Given the description of an element on the screen output the (x, y) to click on. 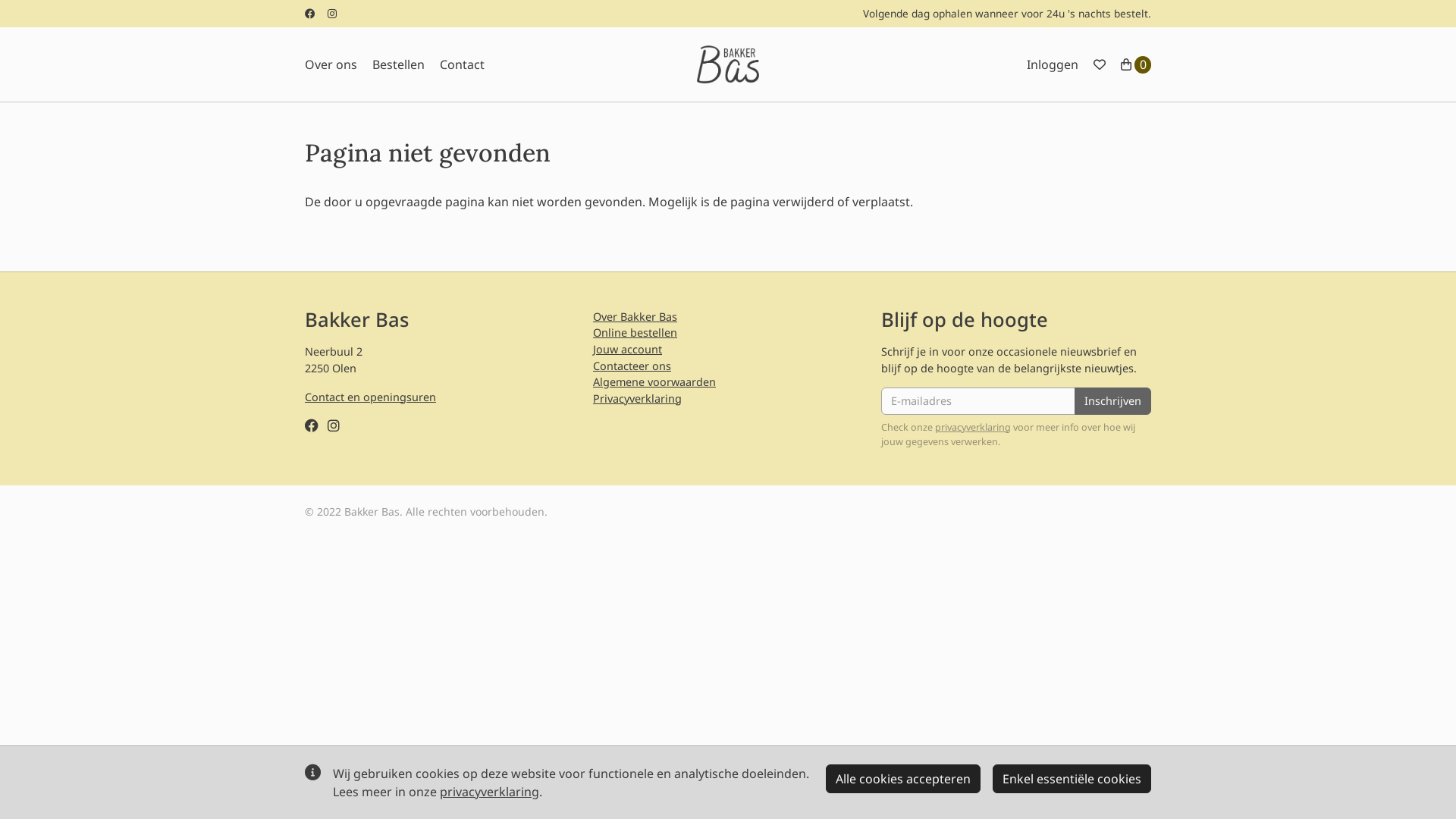
Bakker Bas op Facebook Element type: hover (309, 13)
Over Bakker Bas Element type: text (635, 316)
Bakker Bas op Instagram Element type: hover (333, 424)
Algemene voorwaarden Element type: text (654, 381)
Over ons Element type: text (330, 64)
0 Element type: text (1135, 64)
Bestellen Element type: text (398, 64)
Contact en openingsuren Element type: text (370, 396)
Favorieten Element type: hover (1099, 64)
Alle cookies accepteren Element type: text (902, 778)
privacyverklaring Element type: text (972, 426)
Privacyverklaring Element type: text (637, 398)
privacyverklaring Element type: text (489, 791)
Jouw account Element type: text (627, 349)
Terug naar de startpagina Element type: hover (727, 63)
Bakker Bas op Facebook Element type: hover (311, 424)
Inschrijven Element type: text (1112, 400)
Contacteer ons Element type: text (632, 365)
Online bestellen Element type: text (635, 332)
Bakker Bas op Instagram Element type: hover (331, 13)
Inloggen Element type: text (1052, 64)
Contact Element type: text (461, 64)
